Given the description of an element on the screen output the (x, y) to click on. 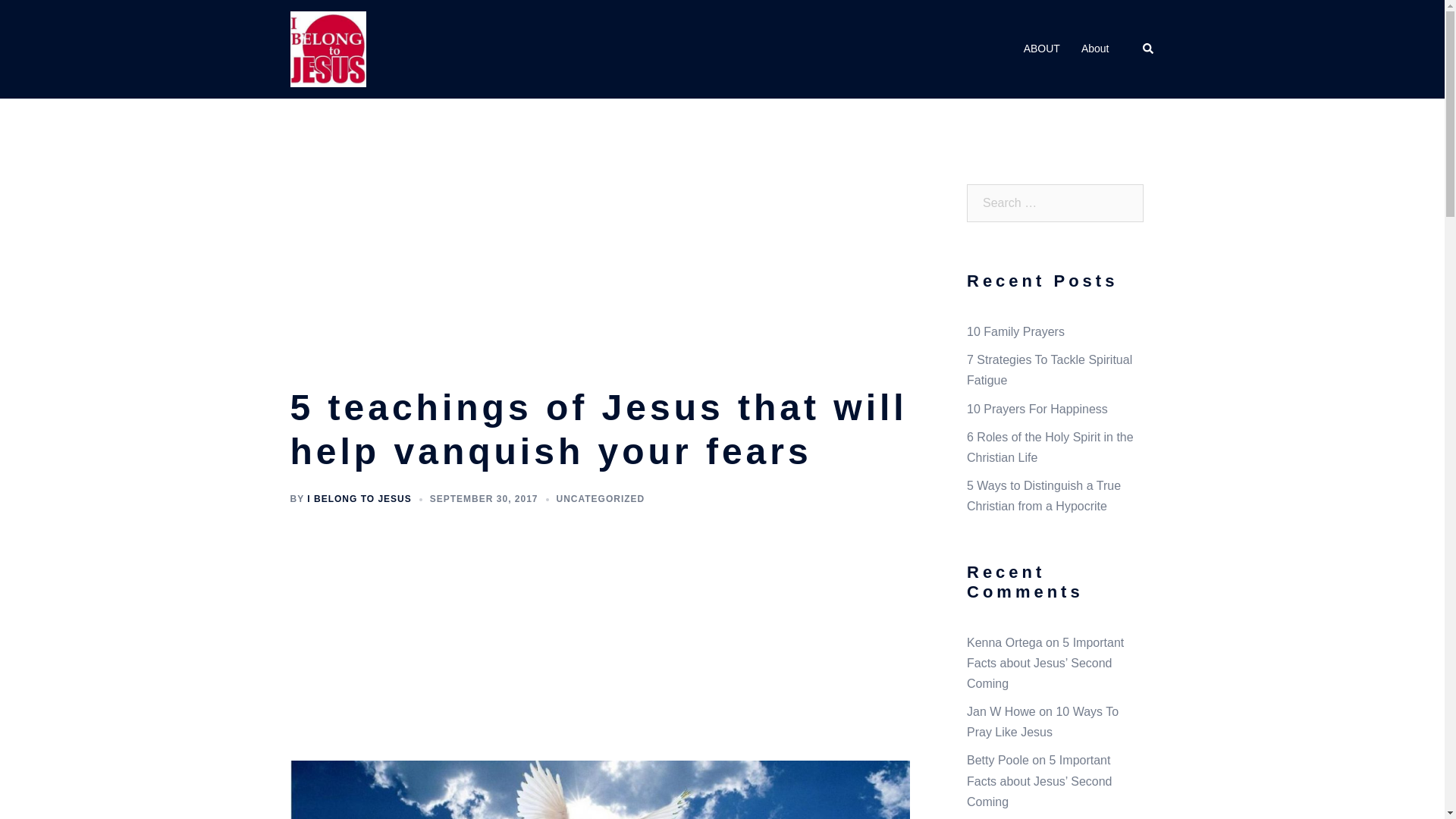
Advertisement (599, 273)
I Belong To Jesus (327, 47)
Advertisement (599, 635)
7 Strategies To Tackle Spiritual Fatigue (1049, 369)
ABOUT (1041, 49)
5 Ways to Distinguish a True Christian from a Hypocrite (1043, 495)
10 Family Prayers (1015, 331)
Search (47, 18)
10 Prayers For Happiness (1037, 408)
SEPTEMBER 30, 2017 (483, 498)
10 Ways To Pray Like Jesus (1042, 721)
Search (1147, 49)
I BELONG TO JESUS (358, 498)
6 Roles of the Holy Spirit in the Christian Life (1050, 447)
UNCATEGORIZED (600, 498)
